Given the description of an element on the screen output the (x, y) to click on. 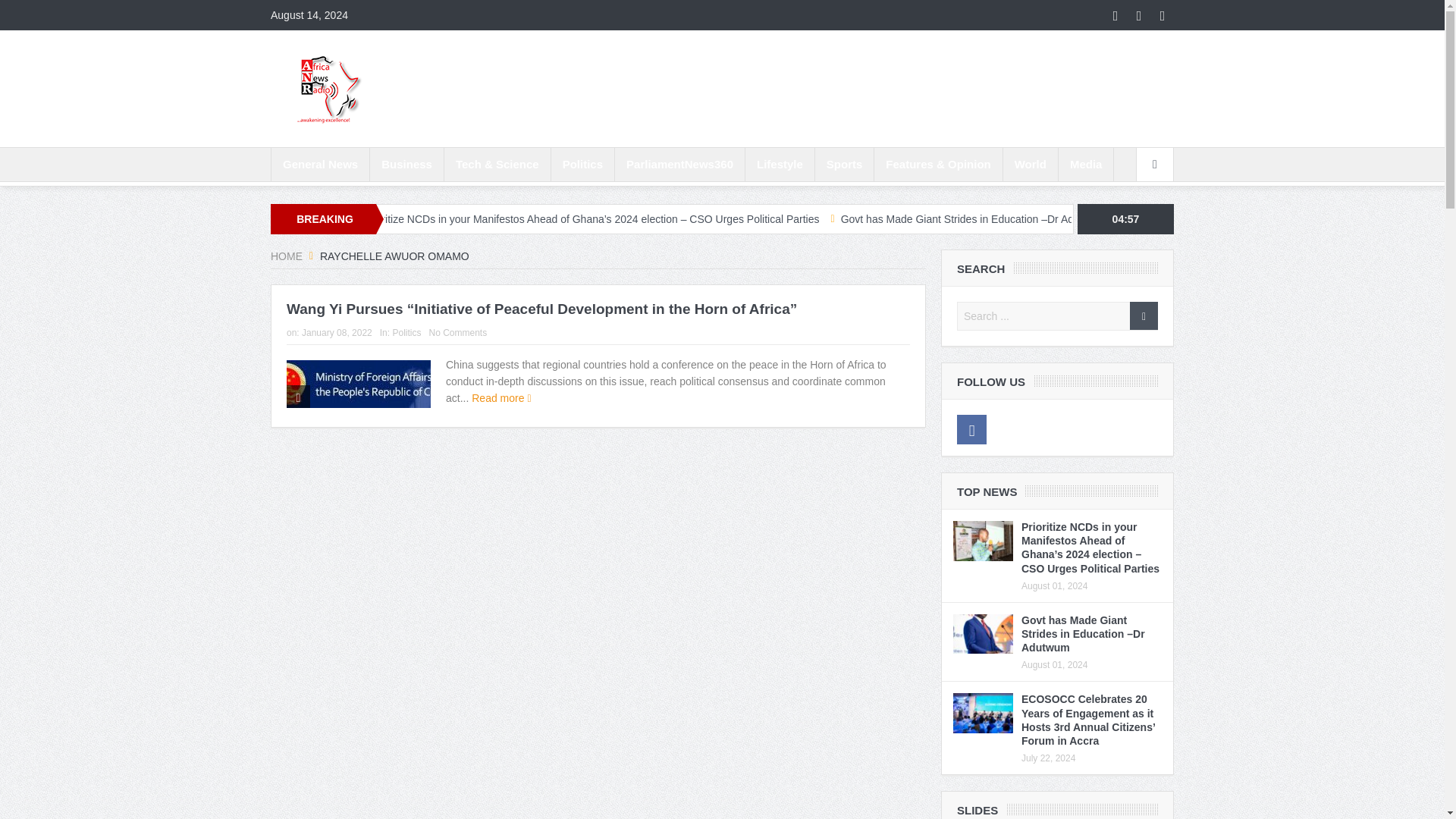
Business (406, 164)
HOME (286, 256)
Media (1085, 164)
Politics (405, 332)
Sports (845, 164)
View all posts in Politics (405, 332)
ParliamentNews360 (679, 164)
Lifestyle (779, 164)
World (1030, 164)
General News (319, 164)
